Given the description of an element on the screen output the (x, y) to click on. 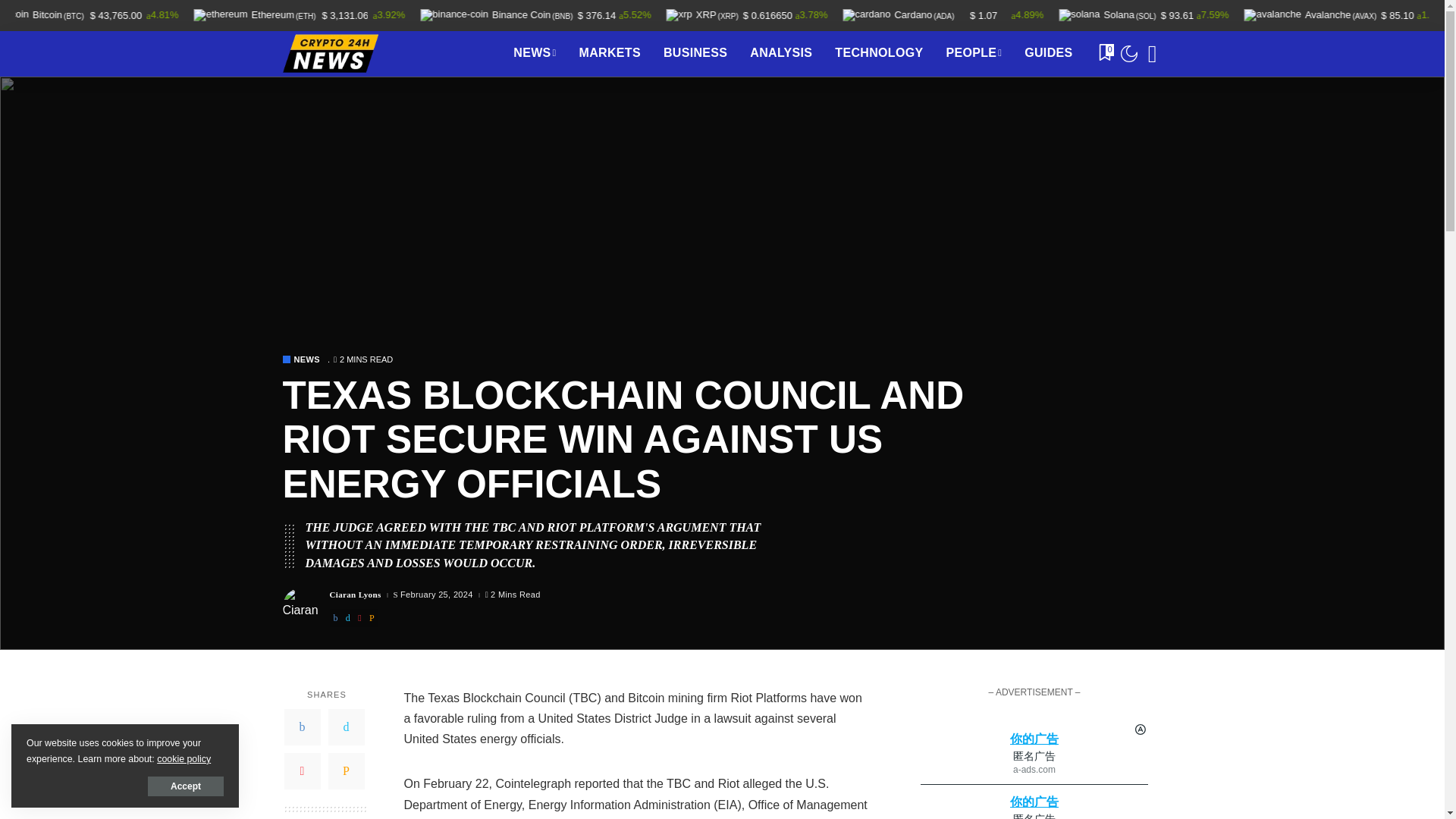
February 25, 2024 (436, 594)
Facebook (301, 727)
Email (345, 770)
Twitter (345, 727)
NEWS (534, 53)
Cryptocurrency 24h News (329, 53)
Pinterest (301, 770)
